Given the description of an element on the screen output the (x, y) to click on. 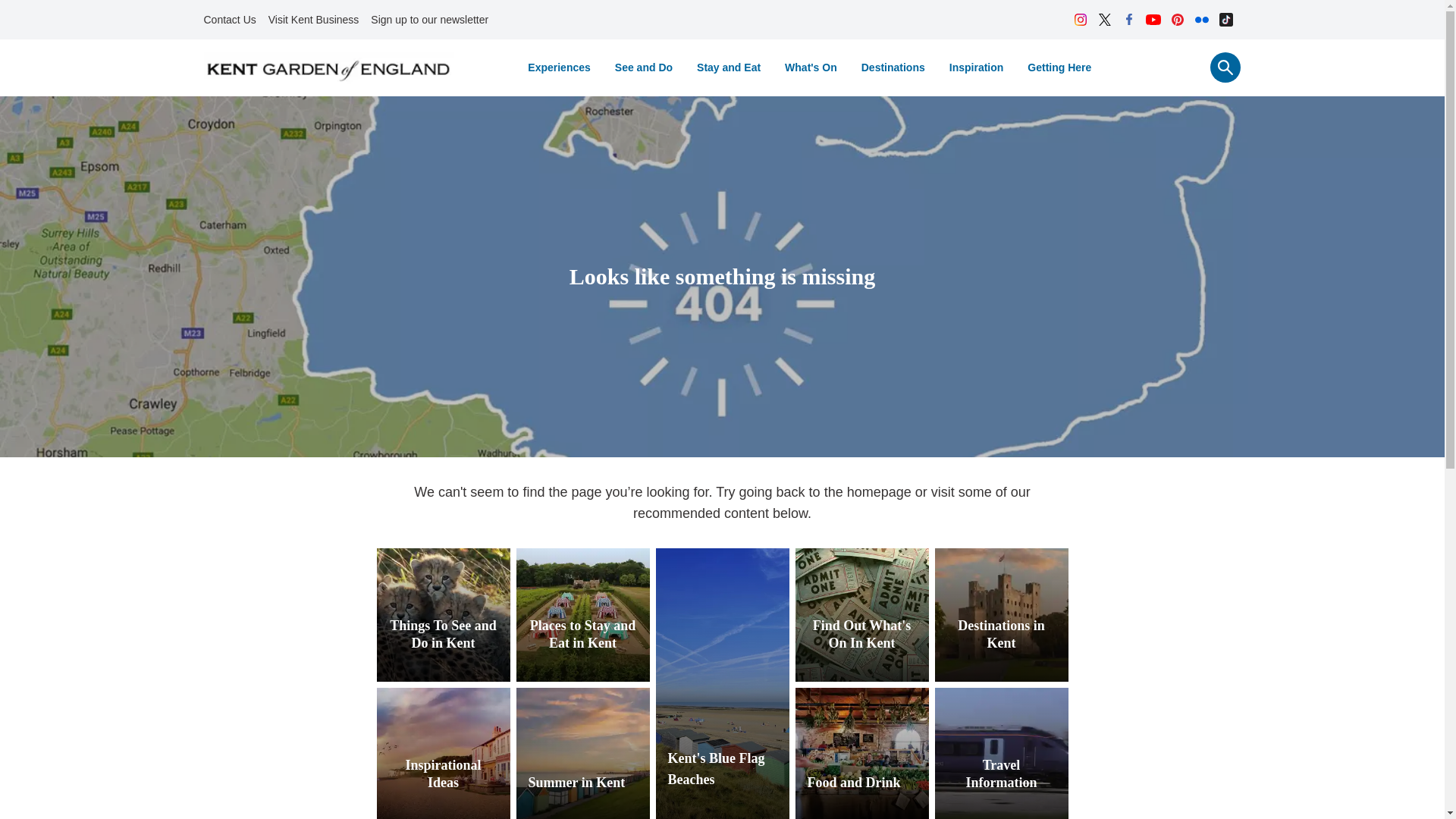
TikTok (1224, 19)
Sign up to our newsletter (430, 19)
Flickr (1200, 19)
Facebook (1128, 19)
Twitter (1104, 19)
Visit Kent Business (313, 19)
Pinterest (1176, 19)
Contact Us (229, 19)
Instagram (1079, 19)
Experiences (558, 67)
YouTube (1152, 19)
See and Do (643, 67)
